Given the description of an element on the screen output the (x, y) to click on. 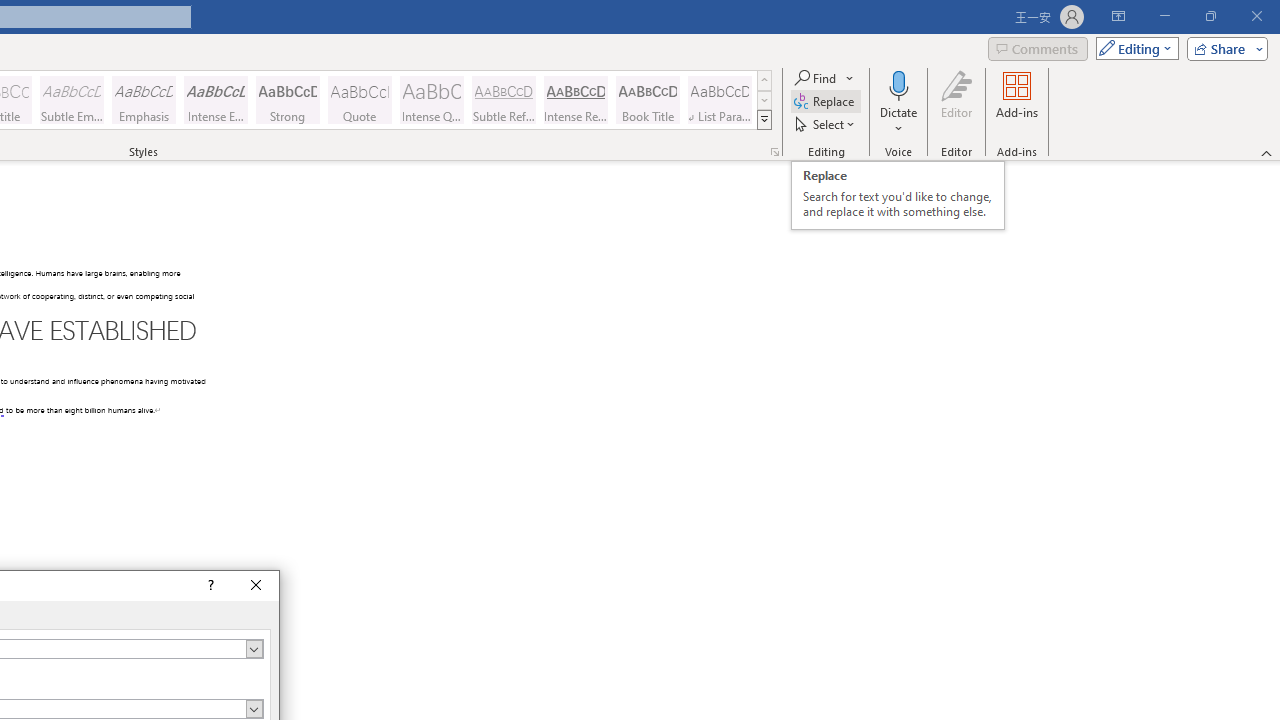
Intense Emphasis (216, 100)
Styles... (774, 151)
Book Title (647, 100)
Subtle Reference (504, 100)
Emphasis (143, 100)
Replace... (826, 101)
Intense Quote (431, 100)
Quote (359, 100)
